Given the description of an element on the screen output the (x, y) to click on. 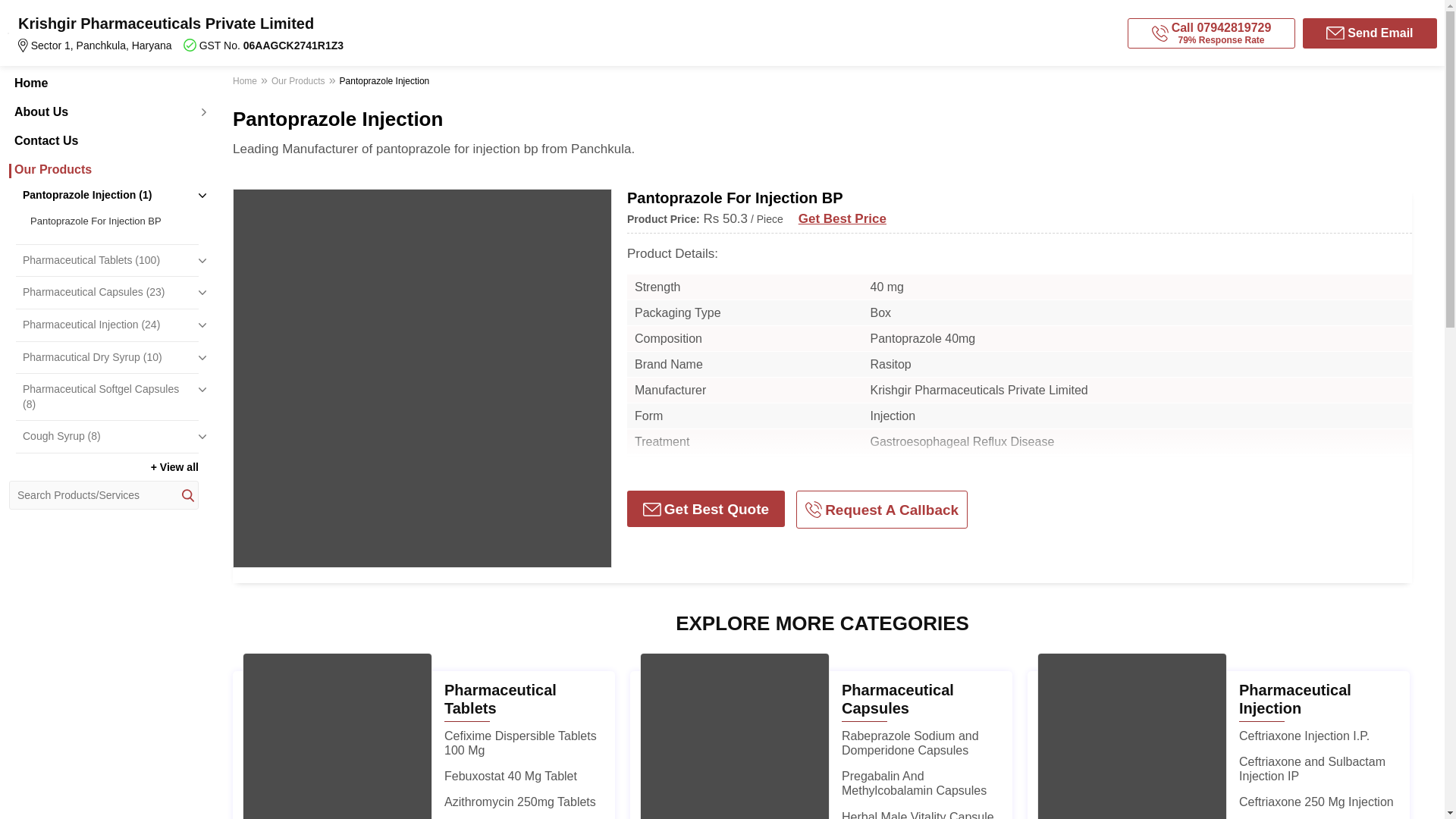
Pantoprazole For Injection BP (110, 221)
Contact Us (103, 141)
About Us (103, 111)
Home (103, 82)
Our Products (103, 169)
